Given the description of an element on the screen output the (x, y) to click on. 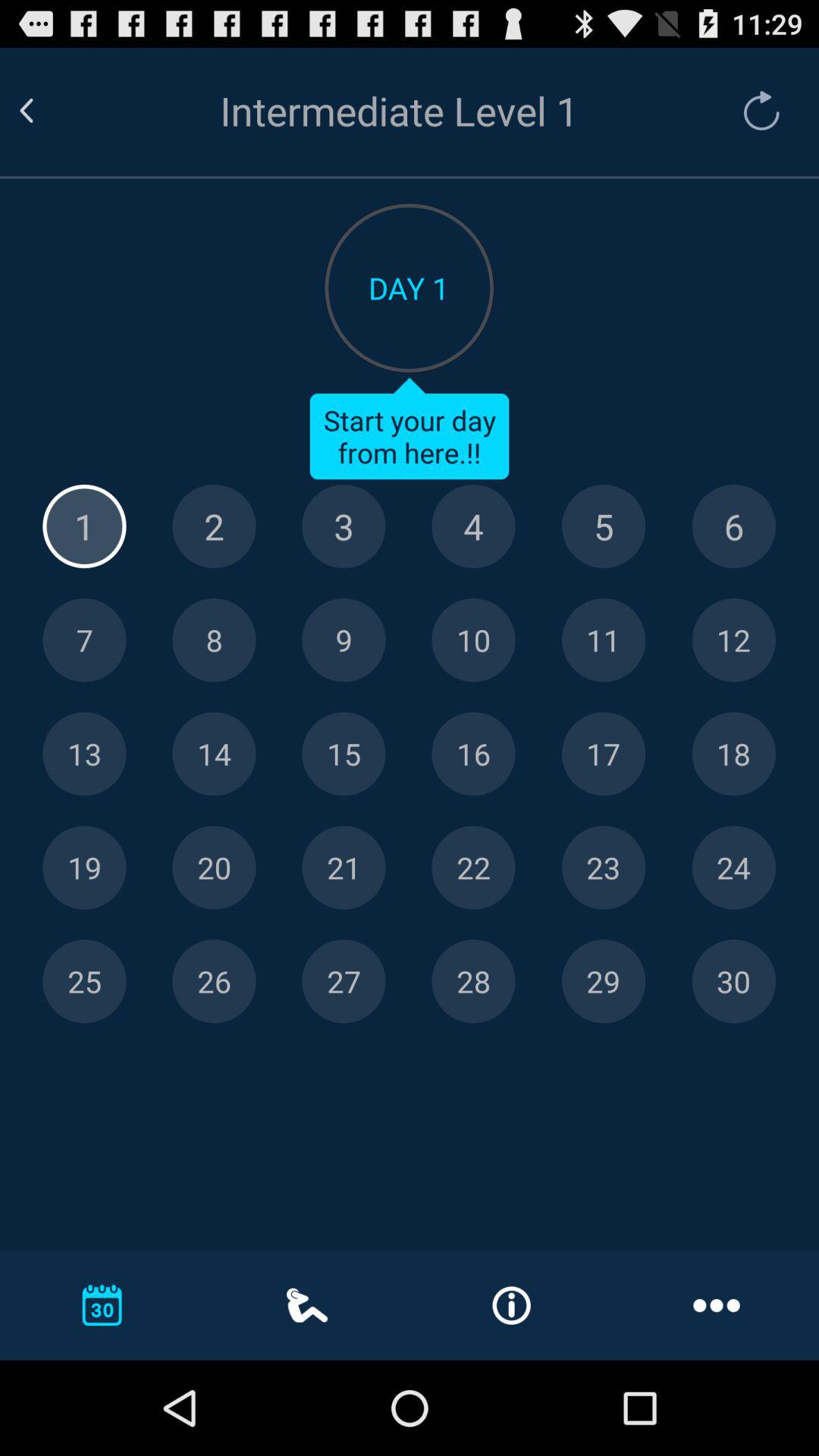
select 17 (603, 753)
